Given the description of an element on the screen output the (x, y) to click on. 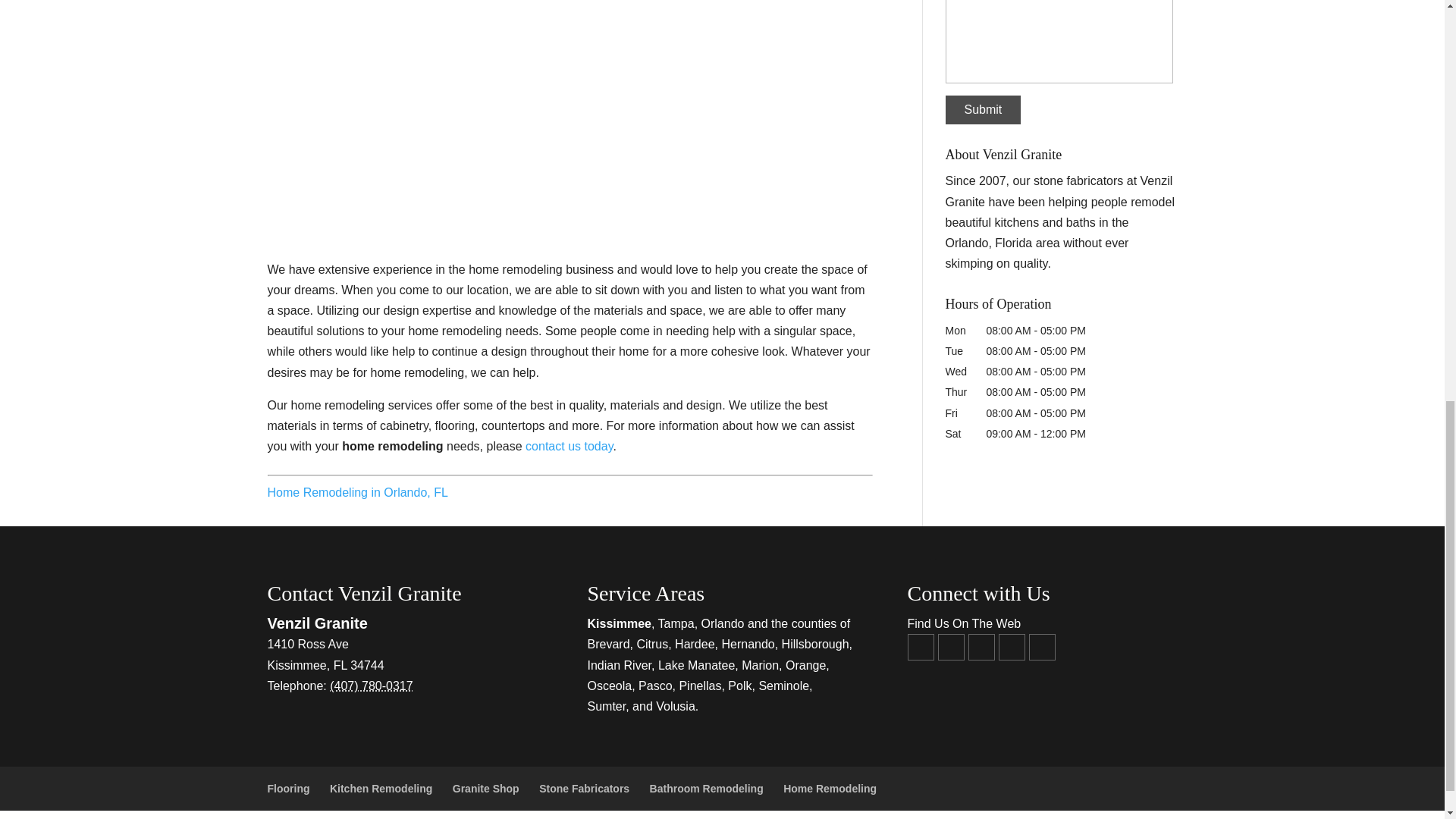
Facebook (920, 646)
Submit (982, 109)
Jackpage (1040, 646)
Google My Business (981, 646)
Home Remodeling in Orlando, FL (356, 492)
Google Mini Site (1011, 646)
YouTube (950, 646)
contact us today (568, 445)
Submit (982, 109)
